Given the description of an element on the screen output the (x, y) to click on. 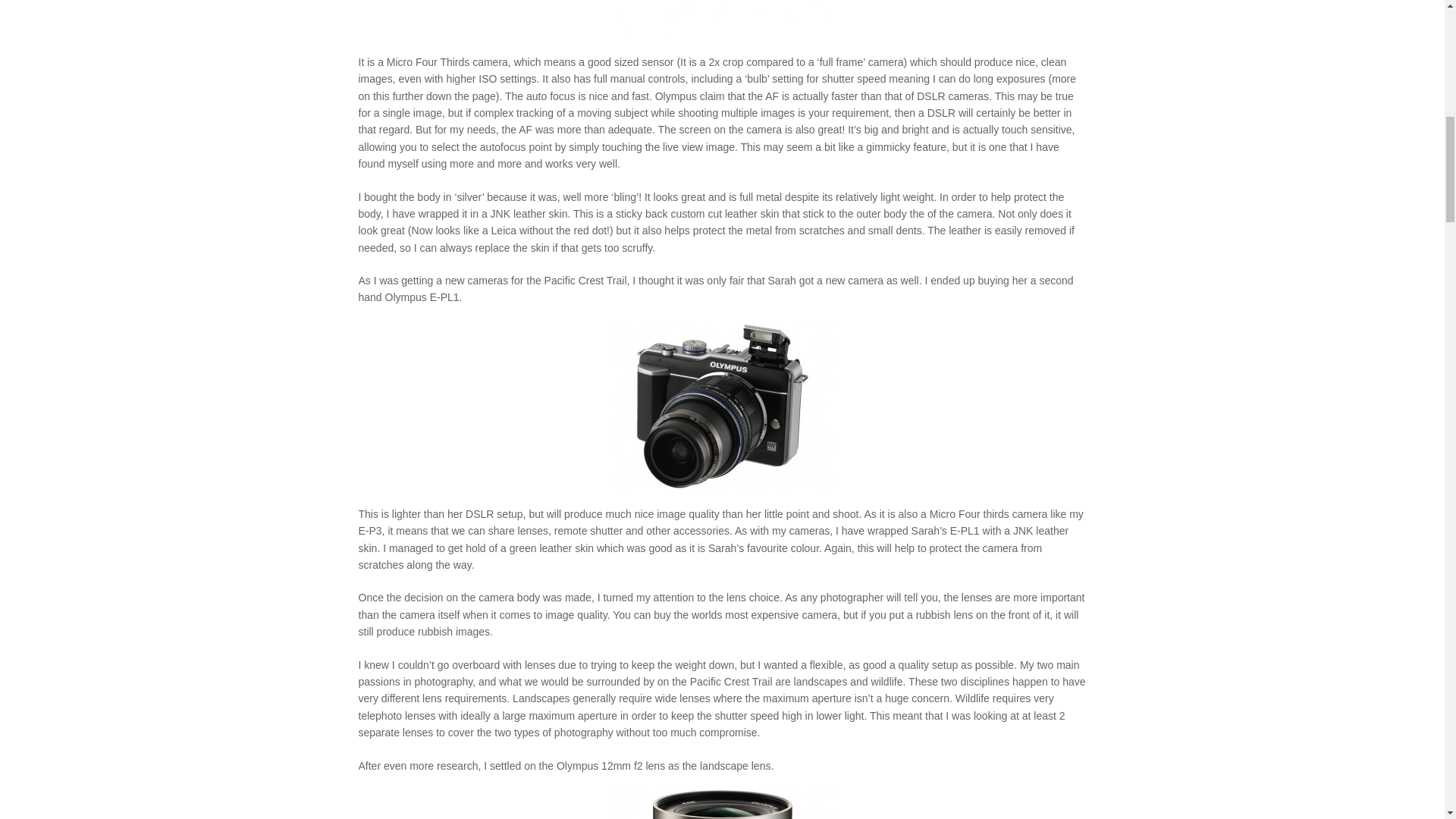
Olympus E-P3 (722, 18)
Olympus EPL-1 (722, 405)
olympus-12mm f2 (722, 804)
